Given the description of an element on the screen output the (x, y) to click on. 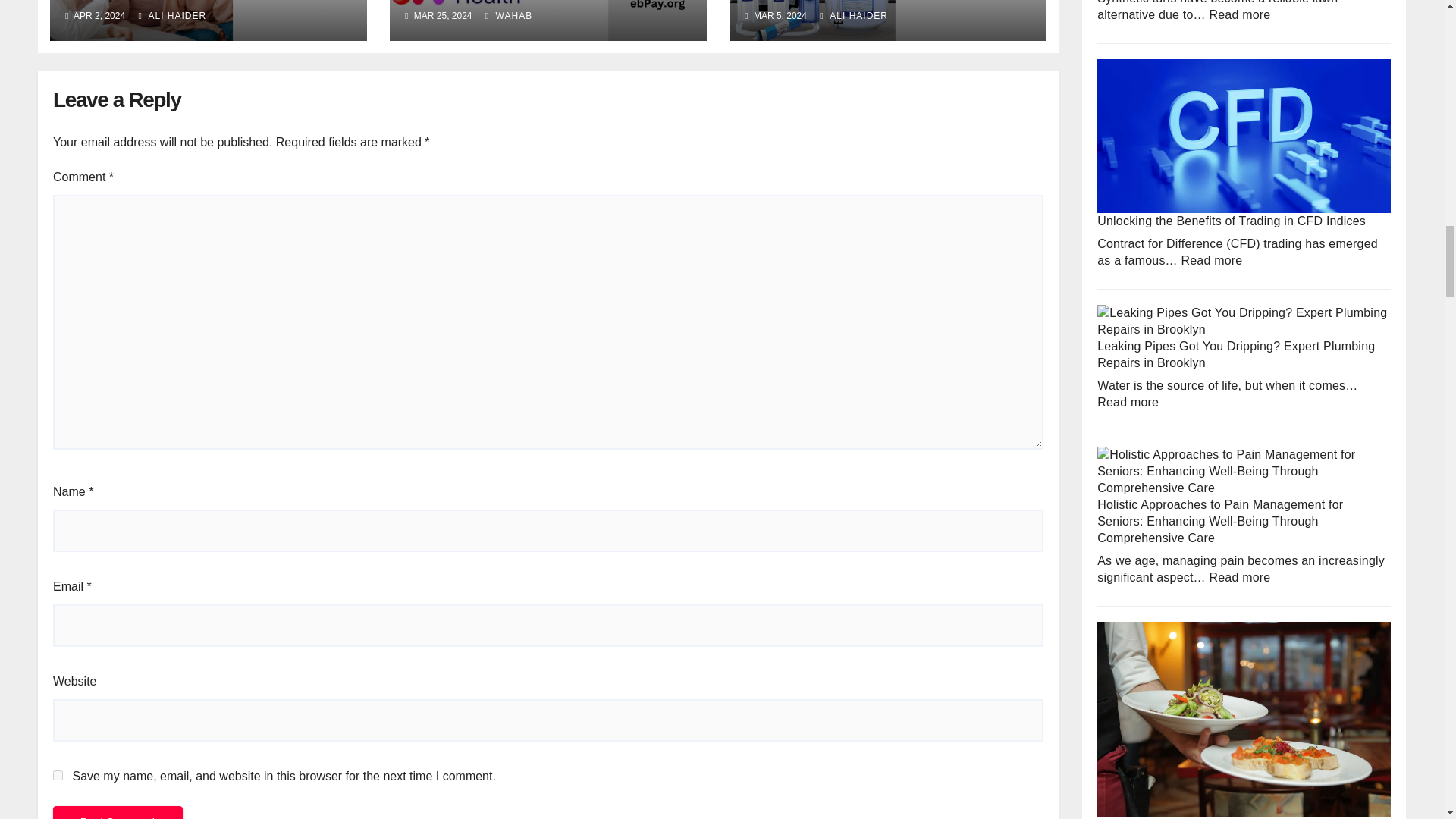
Post Comment (117, 812)
yes (57, 775)
